Given the description of an element on the screen output the (x, y) to click on. 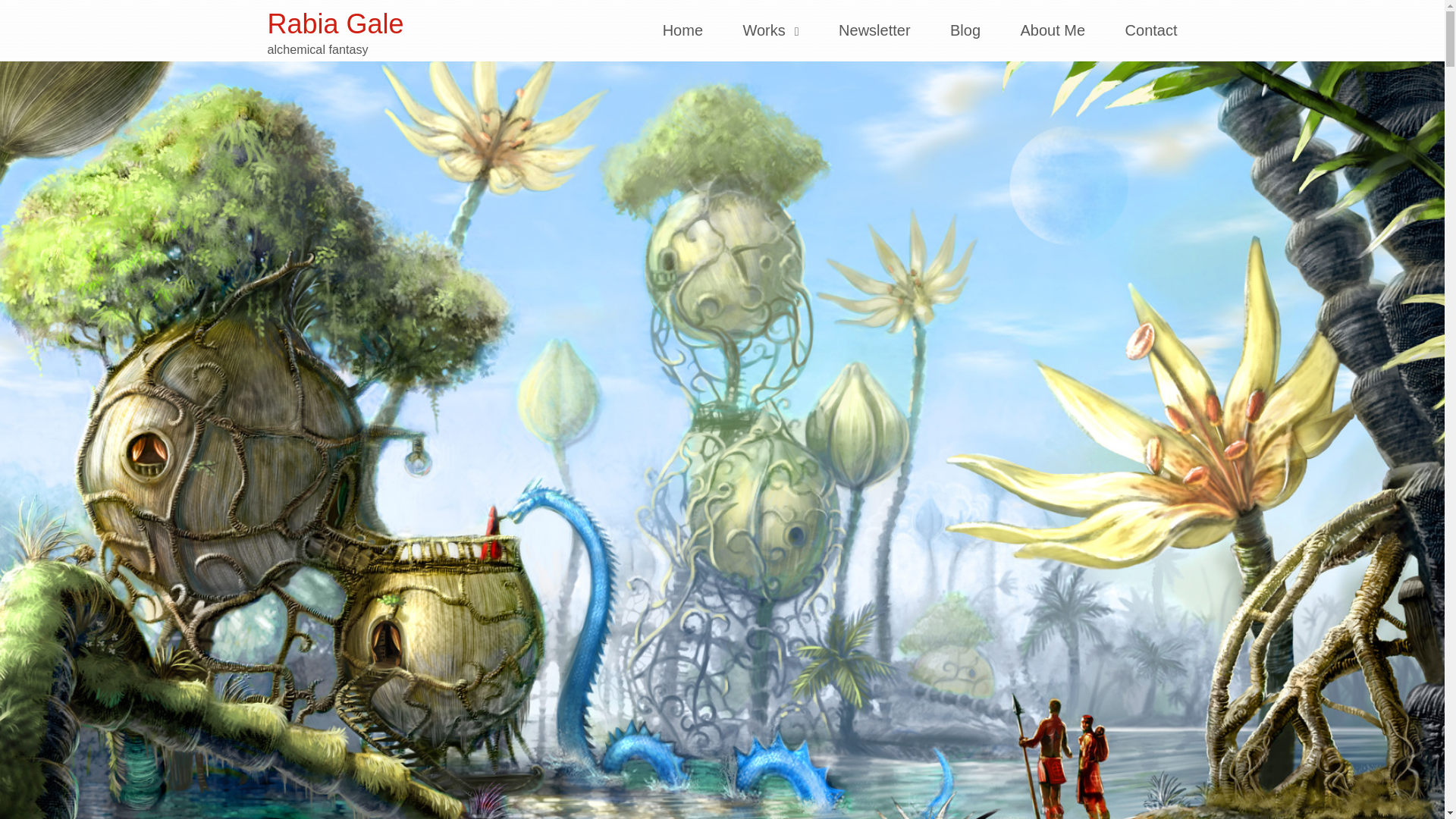
Contact (1141, 30)
Works (769, 30)
Rabia Gale (334, 23)
About Me (1053, 30)
Blog (964, 30)
Home (682, 30)
Newsletter (874, 30)
